Given the description of an element on the screen output the (x, y) to click on. 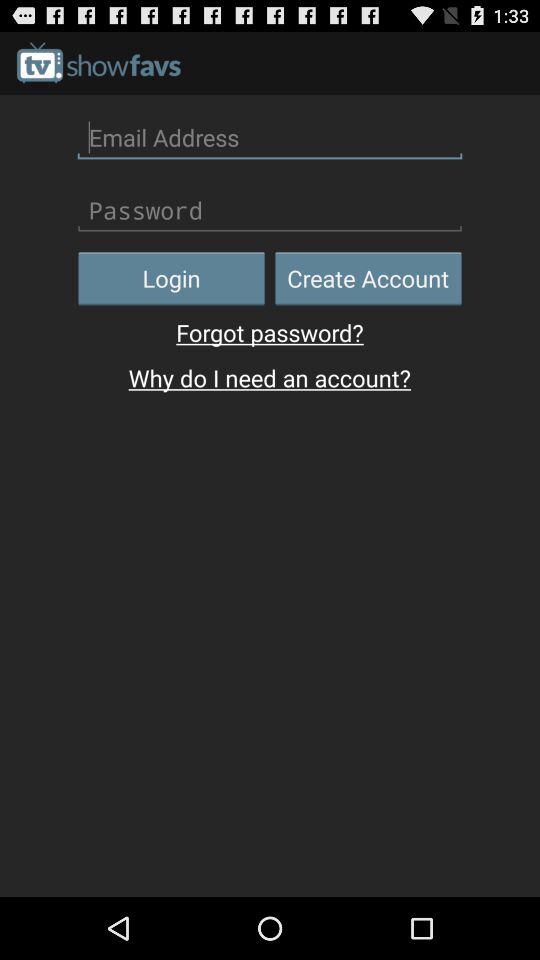
password (269, 210)
